Given the description of an element on the screen output the (x, y) to click on. 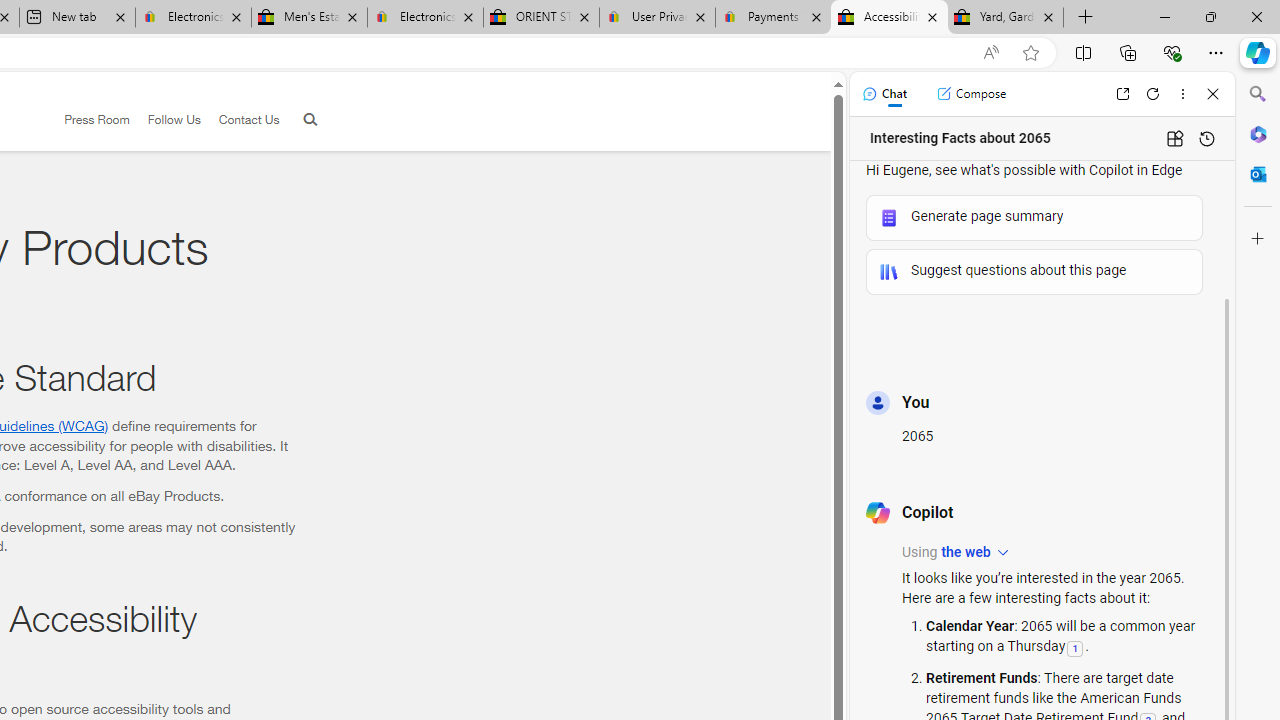
Press Room (88, 120)
Contact Us (248, 119)
